Given the description of an element on the screen output the (x, y) to click on. 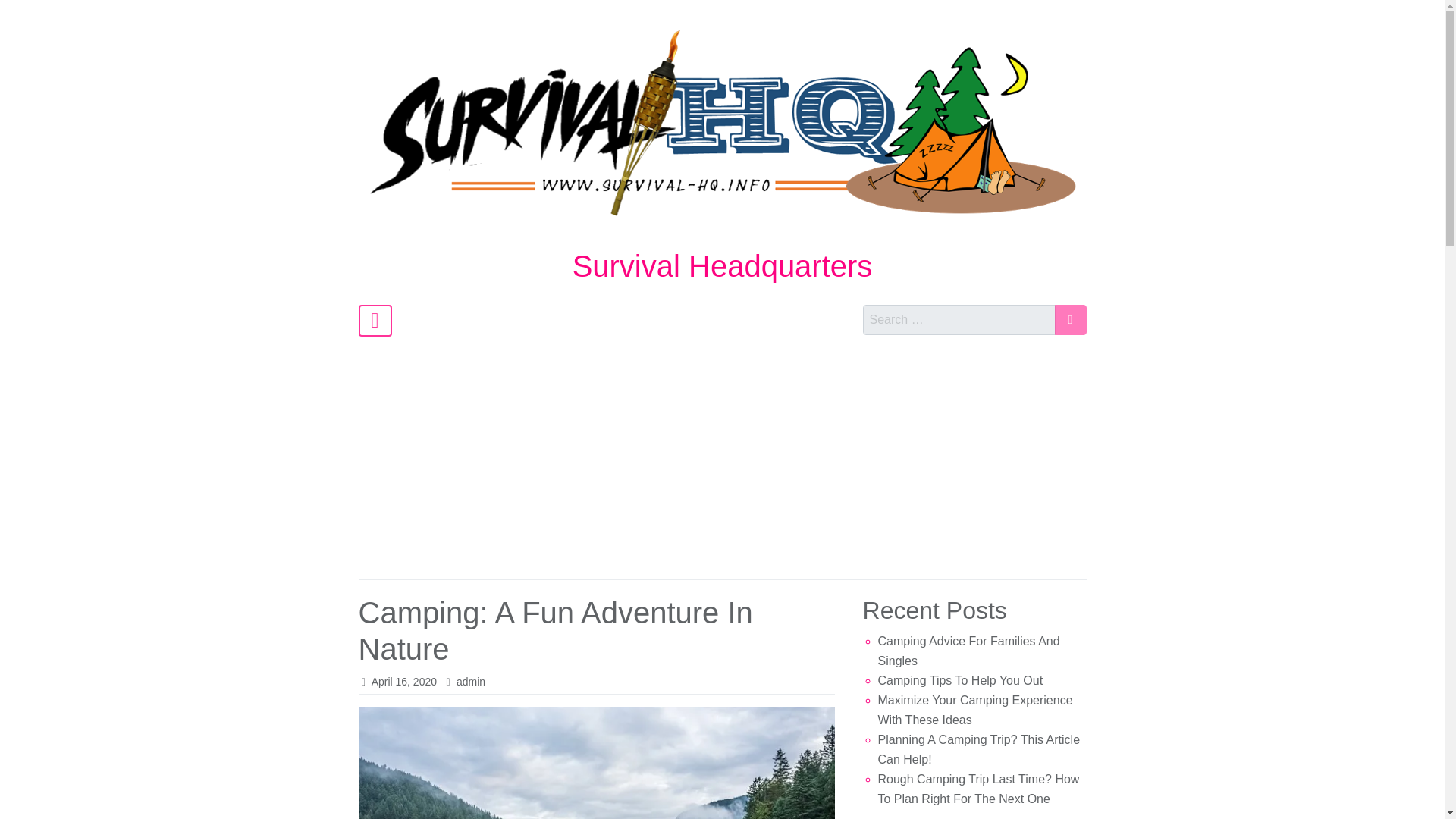
April 16, 2020 (403, 681)
admin (470, 681)
Camping Tips To Help You Out (960, 680)
Survival Headquarters (722, 265)
Maximize Your Camping Experience With These Ideas (975, 709)
Camping Advice For Families And Singles (968, 650)
Survival Headquarters (722, 265)
Planning A Camping Trip? This Article Can Help! (978, 749)
